Given the description of an element on the screen output the (x, y) to click on. 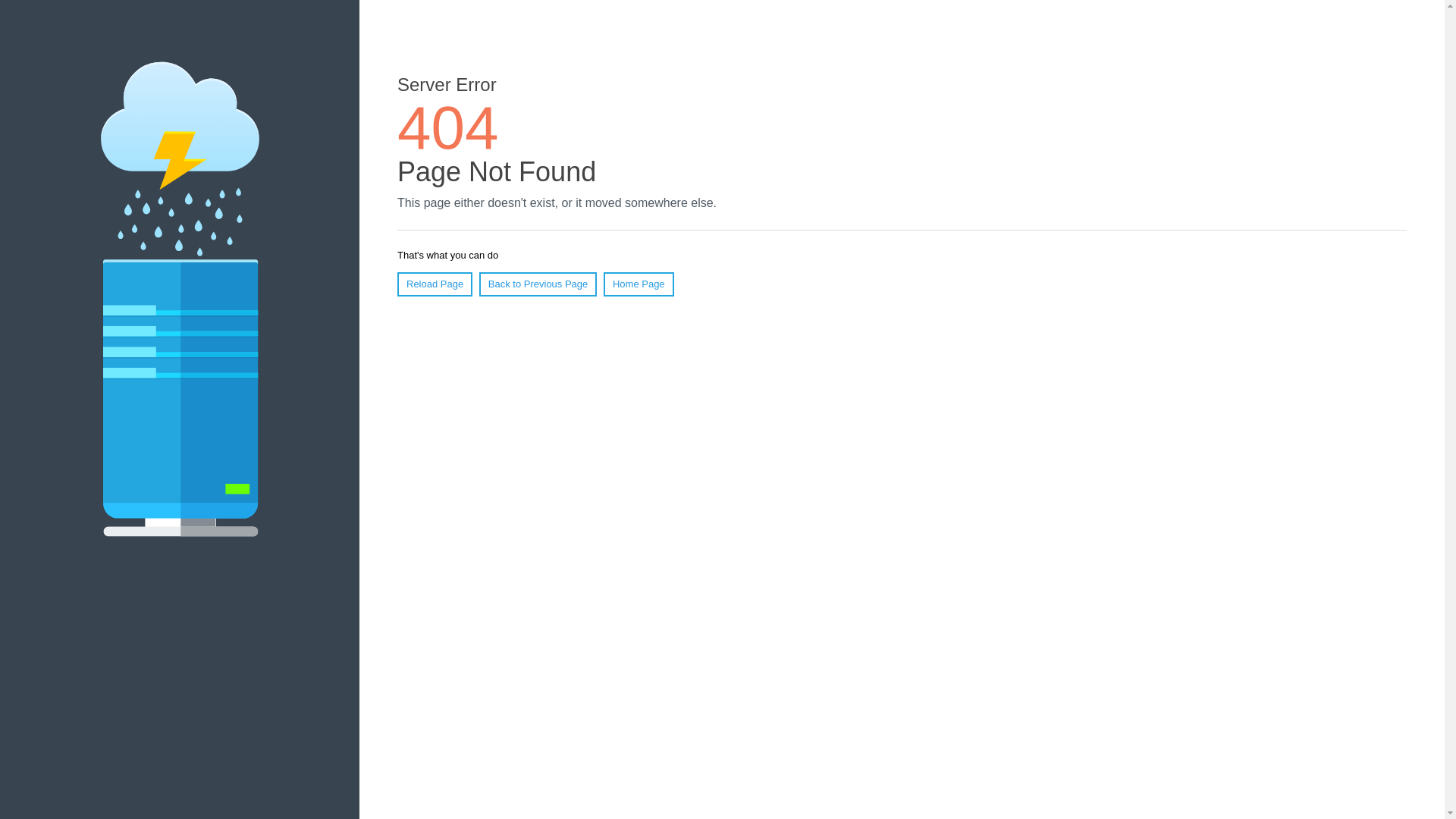
Home Page Element type: text (638, 284)
Back to Previous Page Element type: text (538, 284)
Reload Page Element type: text (434, 284)
